Given the description of an element on the screen output the (x, y) to click on. 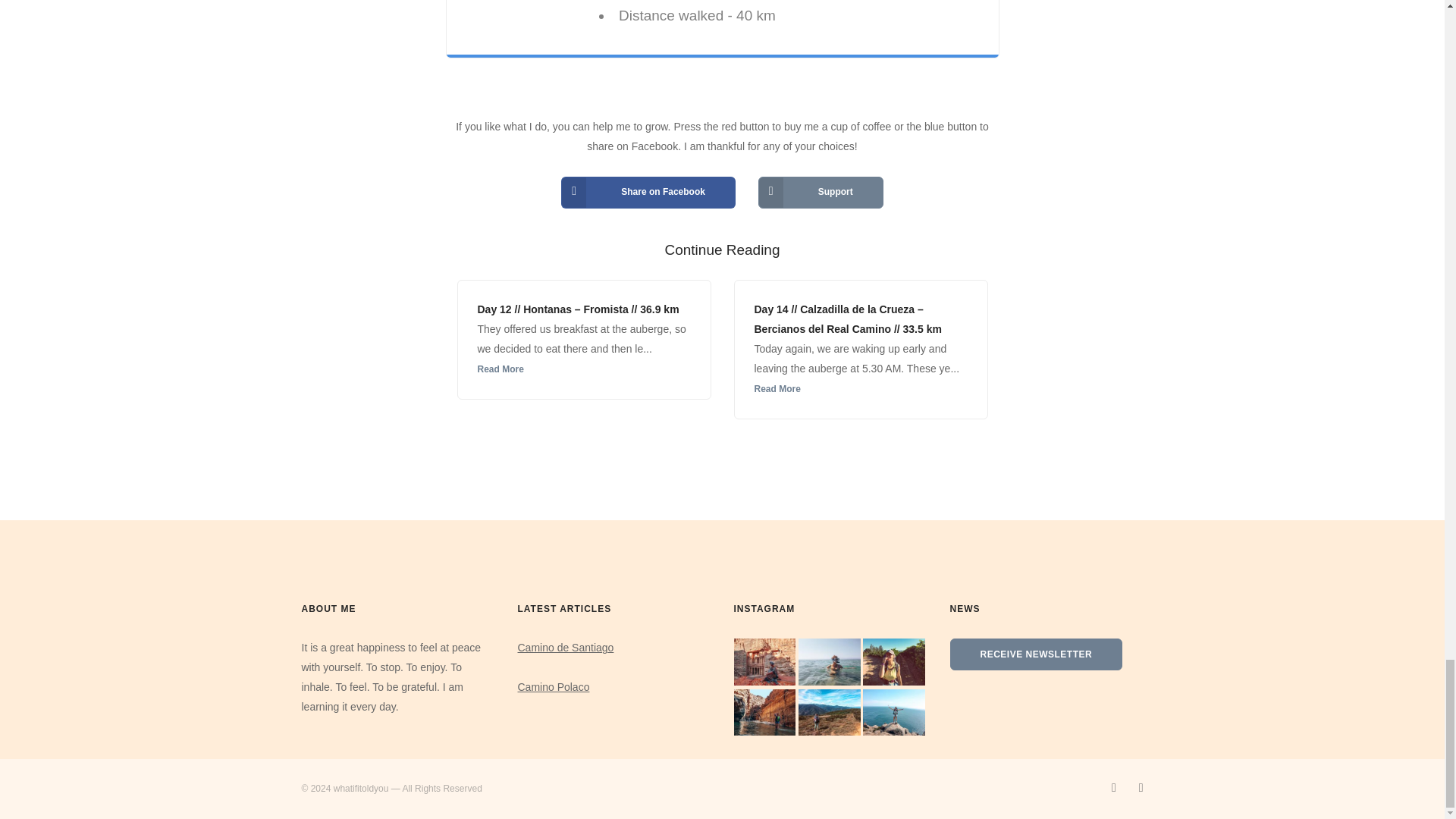
RECEIVE NEWSLETTER (1035, 654)
Share on Facebook (647, 192)
Camino de Santiago (564, 647)
Read More (499, 368)
Camino Polaco (552, 686)
Support (820, 192)
Read More (776, 388)
